Given the description of an element on the screen output the (x, y) to click on. 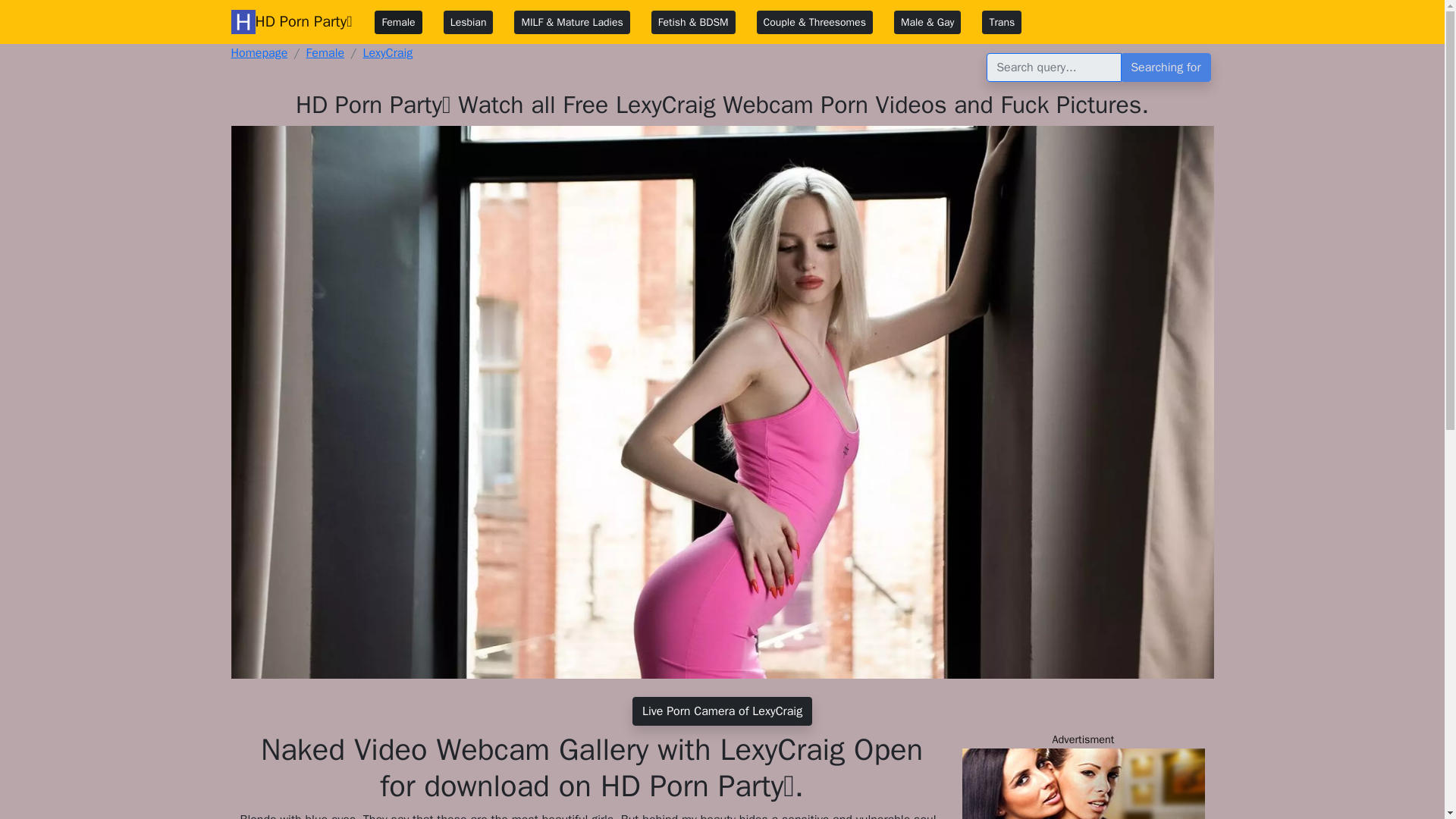
Female (324, 52)
Homepage (258, 52)
Live Porn Camera of LexyCraig (721, 710)
Female (398, 22)
Lesbian (468, 22)
LexyCraig (387, 52)
Trans (1001, 22)
Female (324, 52)
Live Porn Camera of LexyCraig (721, 710)
Lesbian (468, 22)
